Given the description of an element on the screen output the (x, y) to click on. 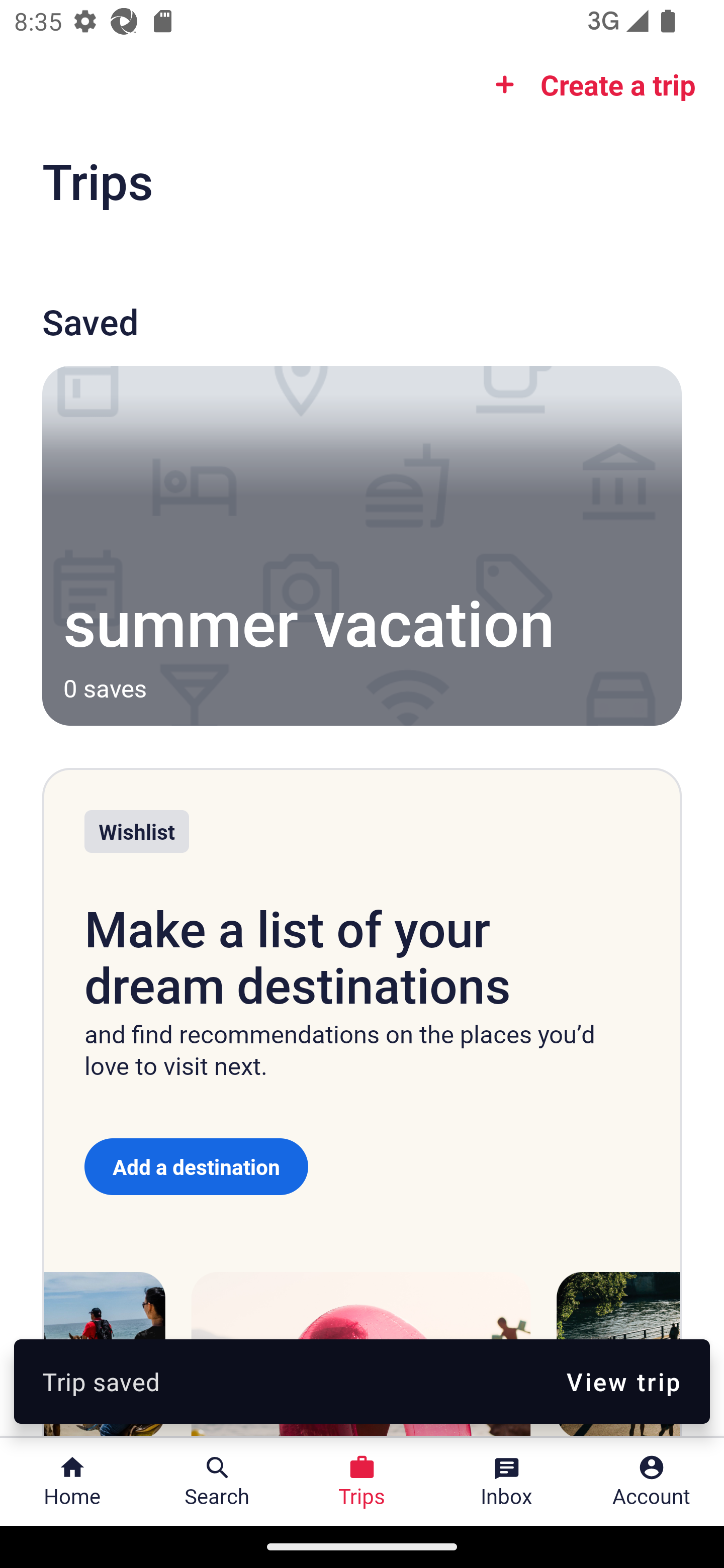
Create a trip Create a trip Button (589, 84)
Add a destination (196, 1166)
View trip (623, 1381)
Home Home Button (72, 1481)
Search Search Button (216, 1481)
Inbox Inbox Button (506, 1481)
Account Profile. Button (651, 1481)
